Given the description of an element on the screen output the (x, y) to click on. 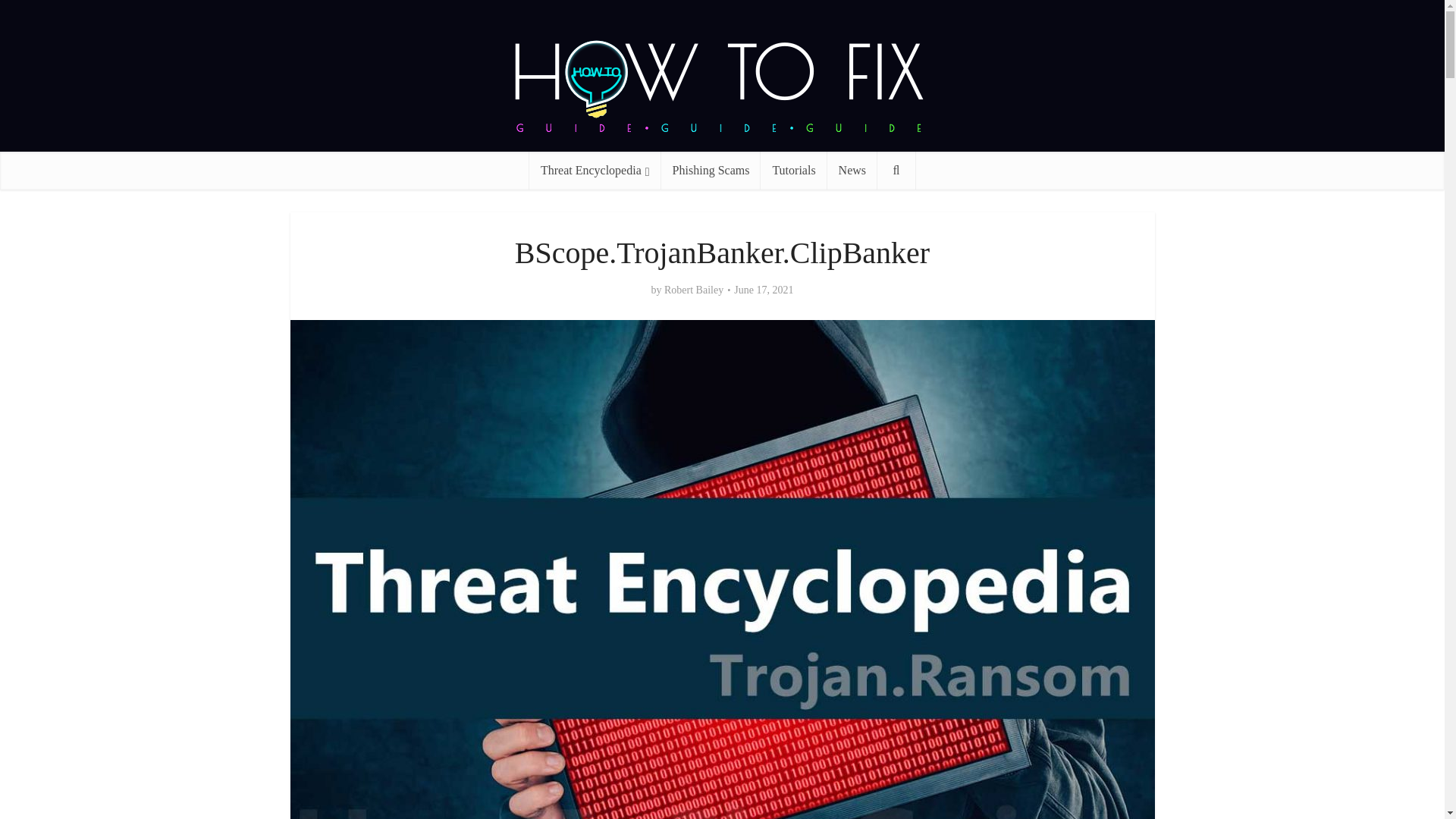
News (852, 170)
Threat Encyclopedia (595, 170)
Robert Bailey (693, 290)
Tutorials (793, 170)
Phishing Scams (711, 170)
